Given the description of an element on the screen output the (x, y) to click on. 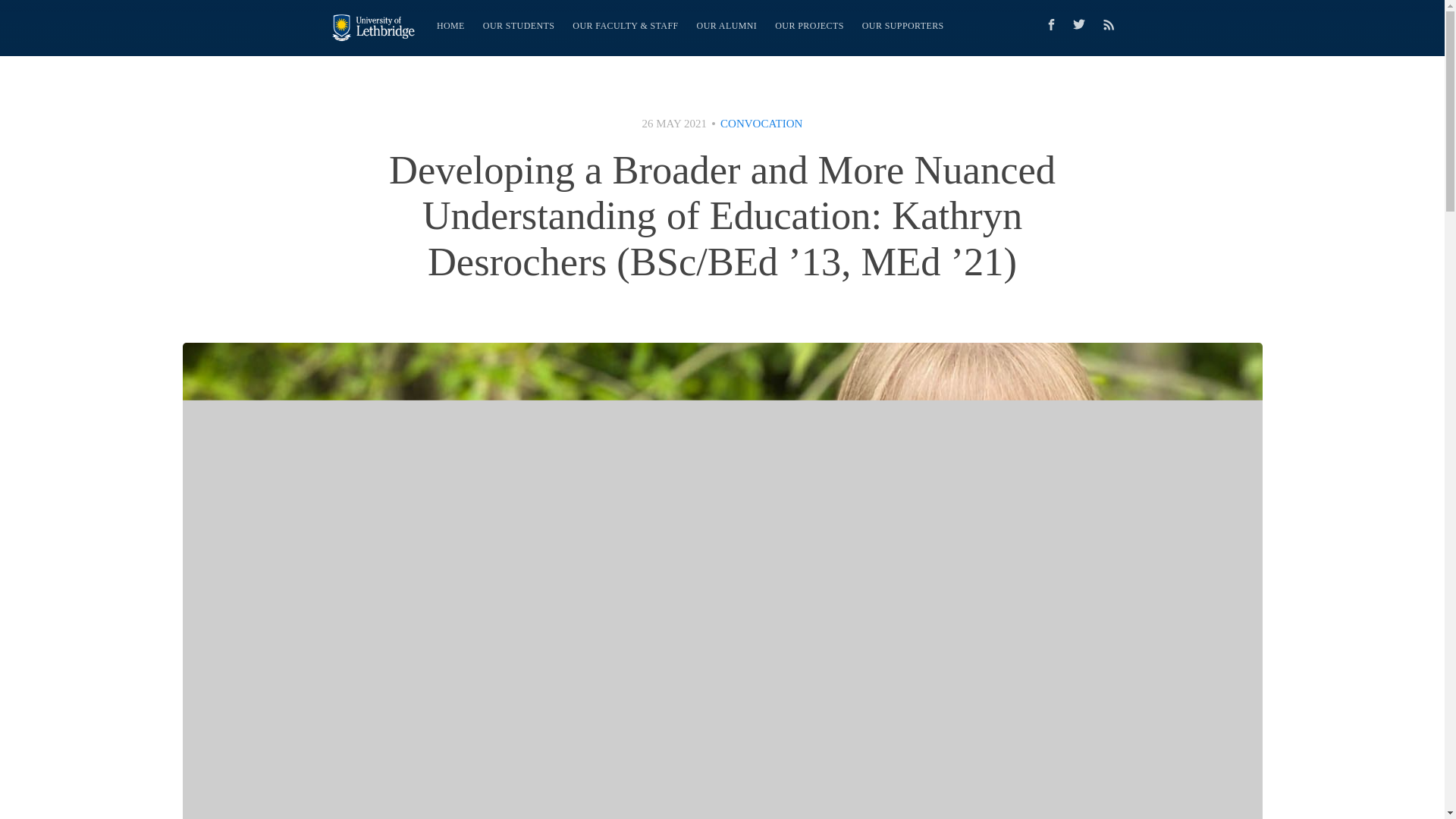
Facebook (1050, 23)
HOME (451, 25)
Twitter (1082, 23)
OUR ALUMNI (727, 25)
OUR STUDENTS (518, 25)
CONVOCATION (761, 123)
OUR PROJECTS (809, 25)
OUR SUPPORTERS (903, 25)
